Given the description of an element on the screen output the (x, y) to click on. 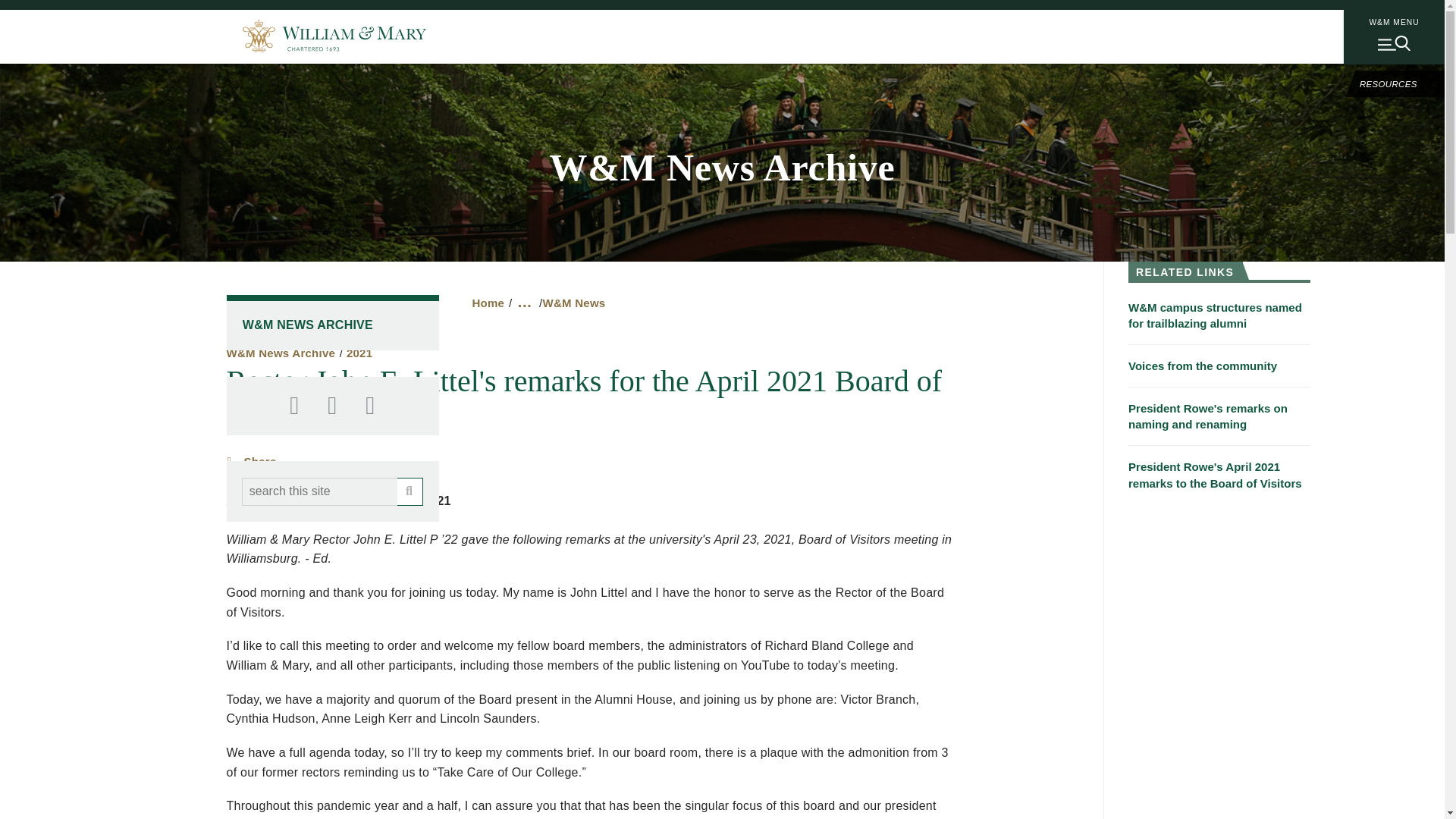
Submit (410, 491)
Facebook (294, 405)
X (332, 405)
President Rowe's remarks on naming and renaming (1219, 409)
Voices from the community (1219, 358)
YouTube (370, 405)
President Rowe's April 2021 remarks to the Board of Visitors (1219, 467)
